Given the description of an element on the screen output the (x, y) to click on. 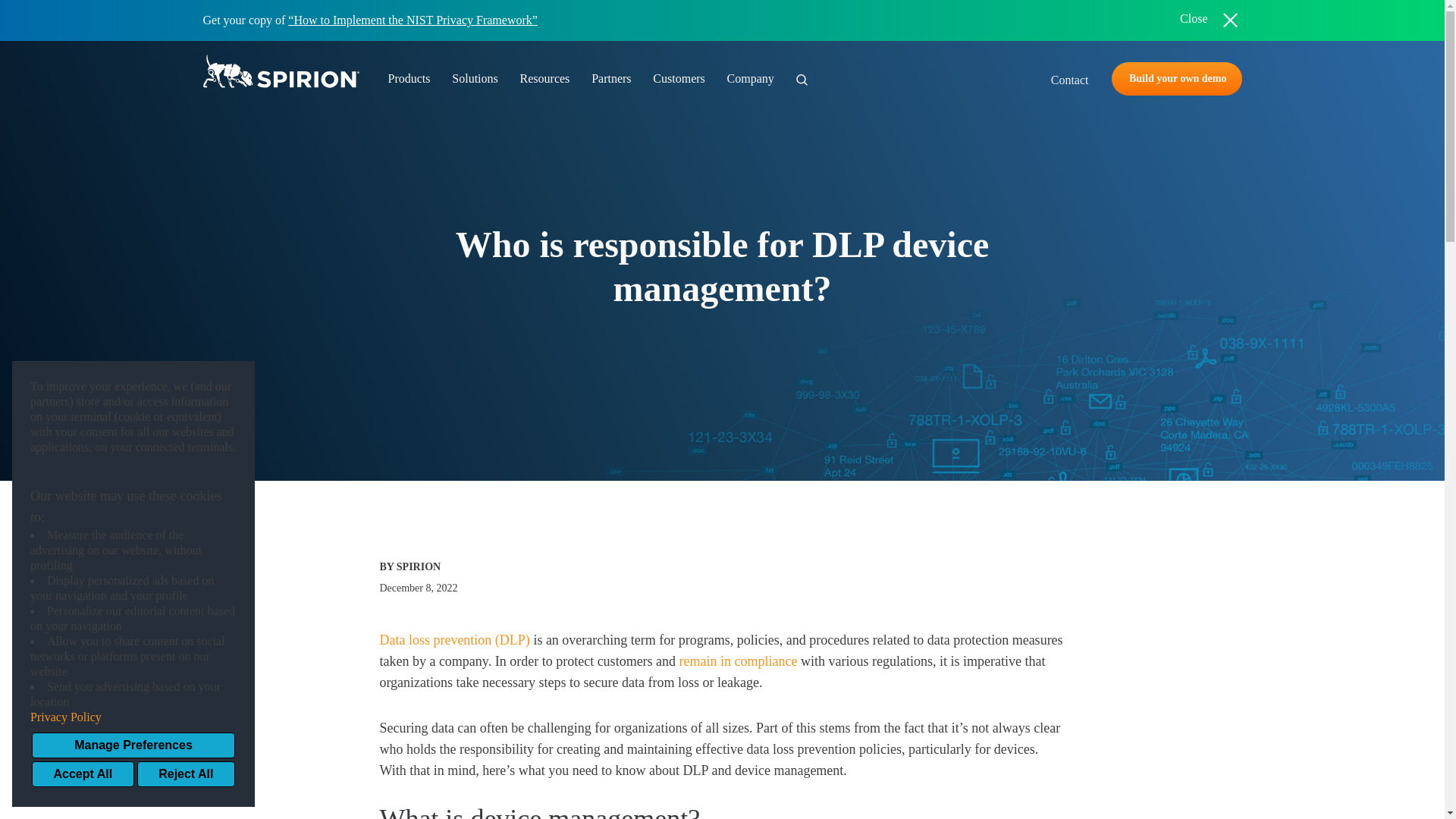
Accept All (82, 774)
Close Banner (1208, 20)
Reject All (185, 774)
Manage Preferences (133, 745)
Close (1208, 20)
Privacy Policy (132, 717)
